Given the description of an element on the screen output the (x, y) to click on. 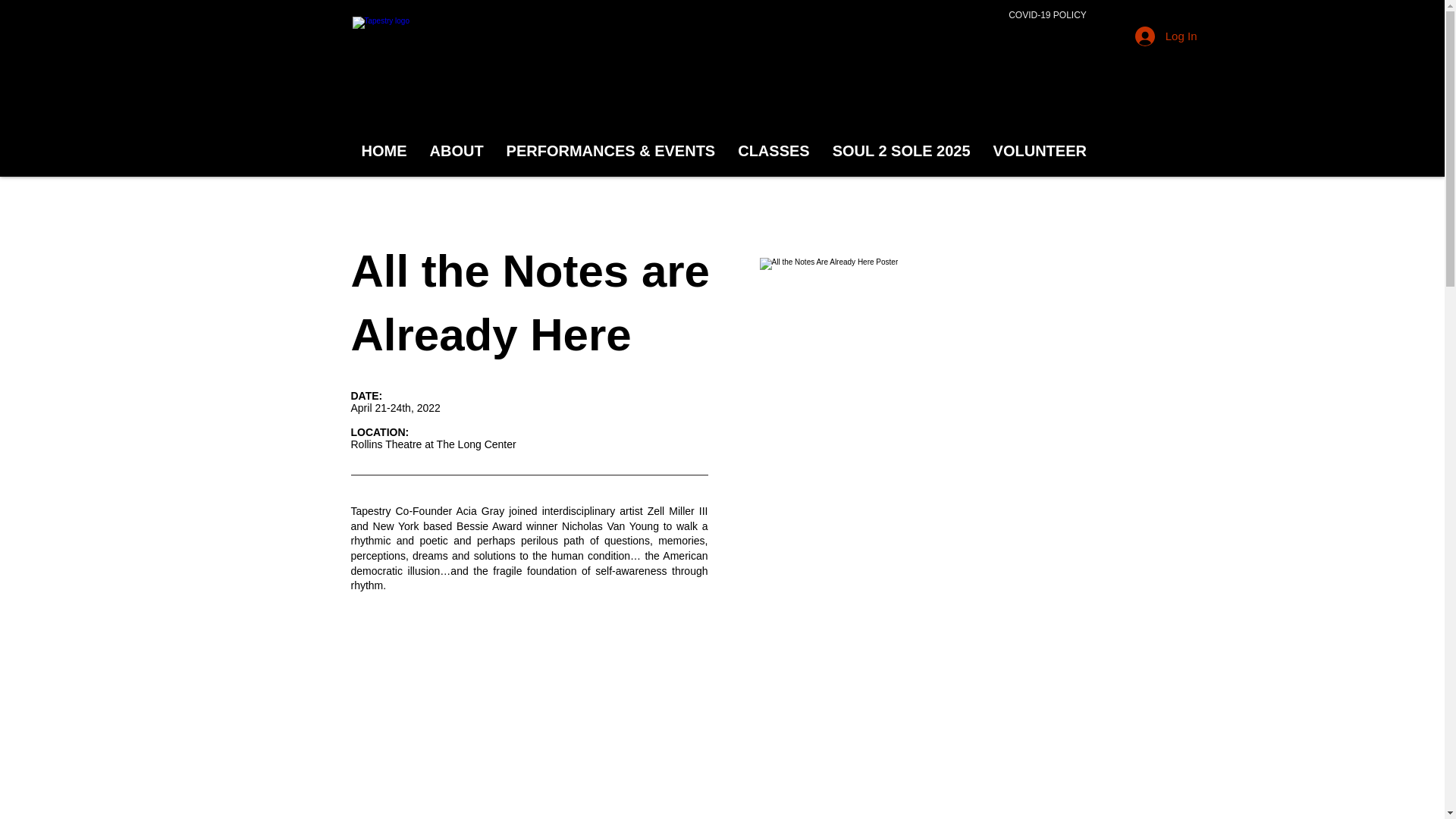
HOME (384, 155)
tapwhite.png (423, 71)
COVID-19 POLICY (1048, 15)
VOLUNTEER (1039, 155)
SOUL 2 SOLE 2025 (901, 155)
CLASSES (773, 155)
ABOUT (457, 155)
Log In (1166, 35)
